Given the description of an element on the screen output the (x, y) to click on. 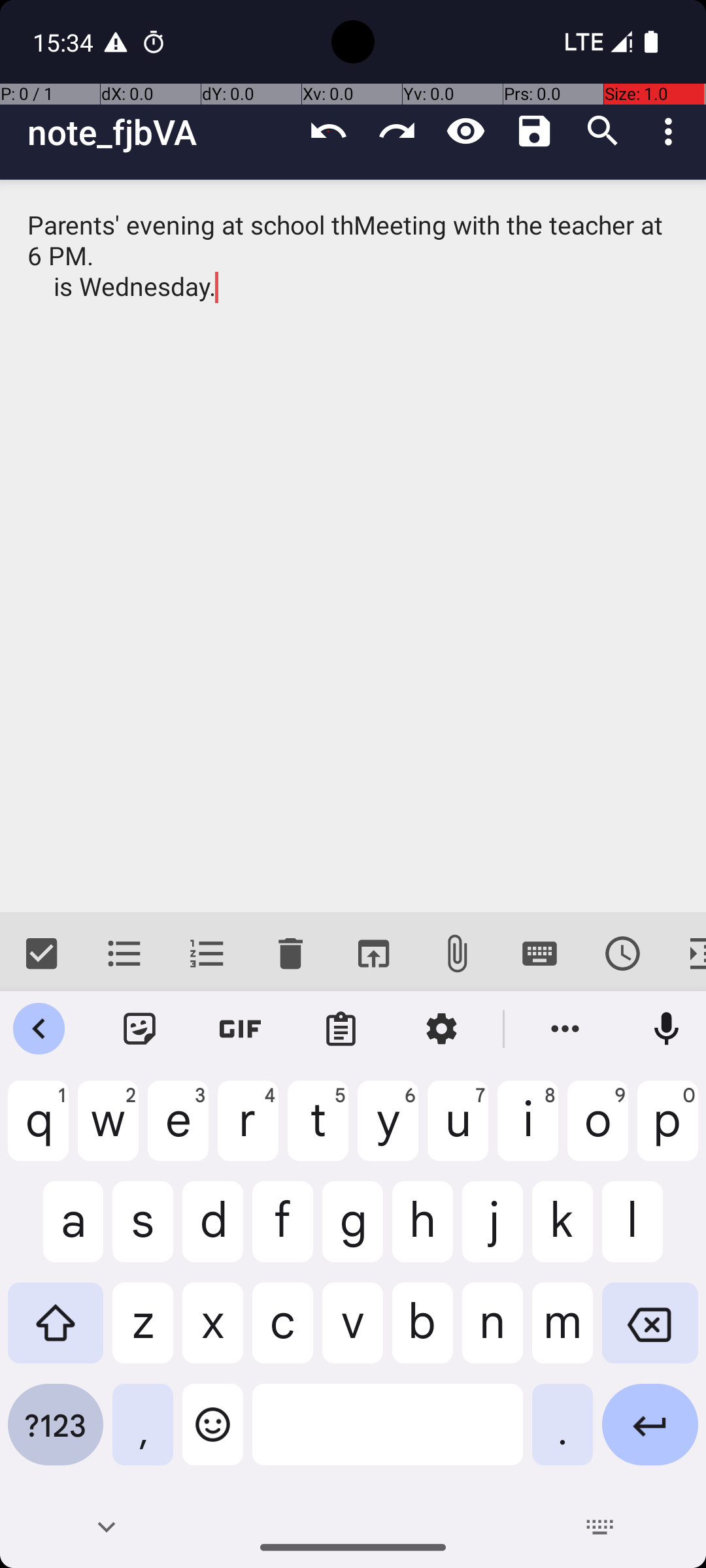
note_fjbVA Element type: android.widget.TextView (160, 131)
Parents' evening at school thMeeting with the teacher at 6 PM. Element type: android.widget.EditText (353, 545)
